Given the description of an element on the screen output the (x, y) to click on. 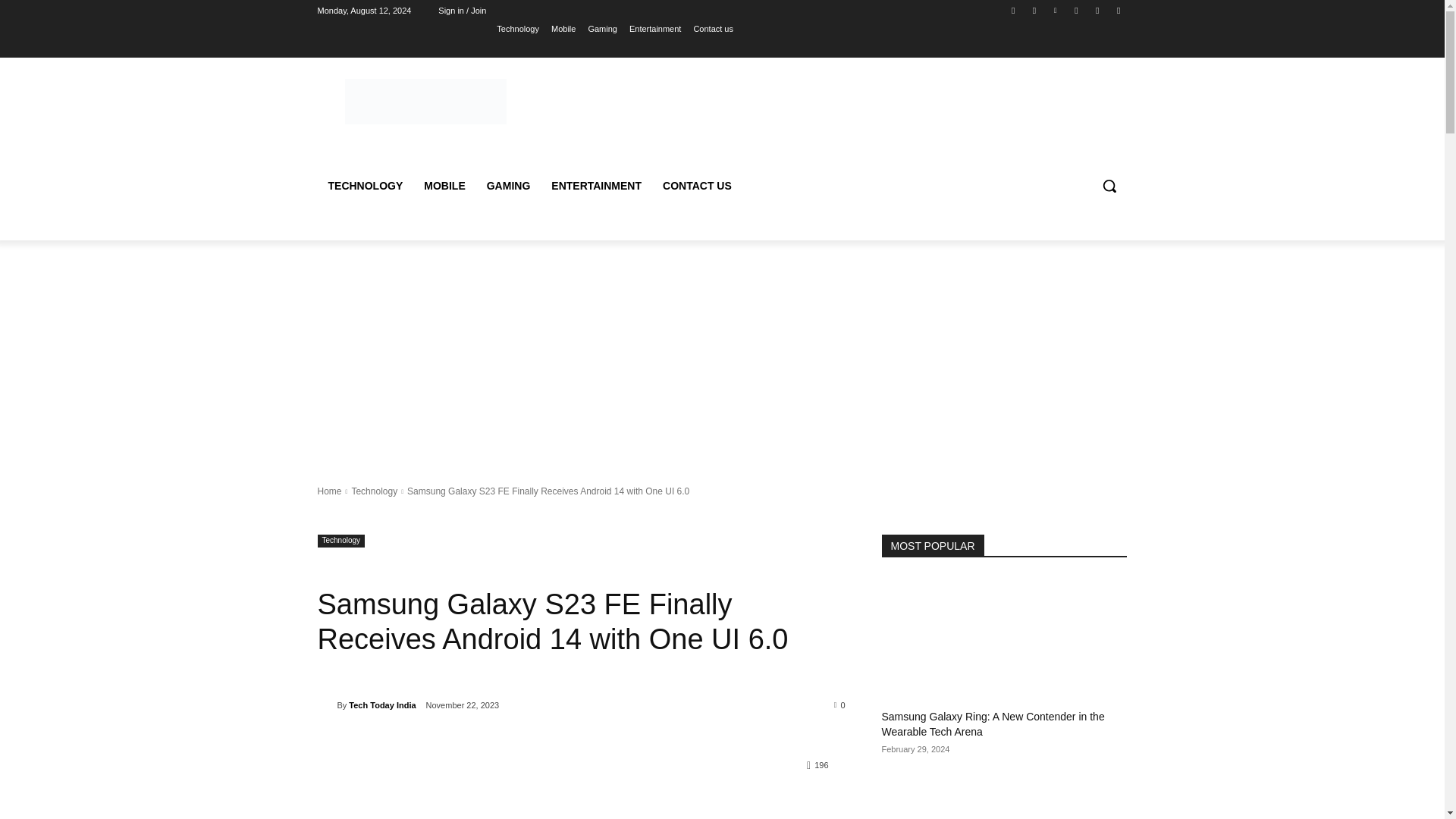
Facebook (1013, 9)
Contact us (713, 28)
MOBILE (444, 185)
RSS (1075, 9)
Twitter (1097, 9)
Instagram (1034, 9)
Technology (517, 28)
Youtube (1117, 9)
Mobile (563, 28)
TECHNOLOGY (365, 185)
